Given the description of an element on the screen output the (x, y) to click on. 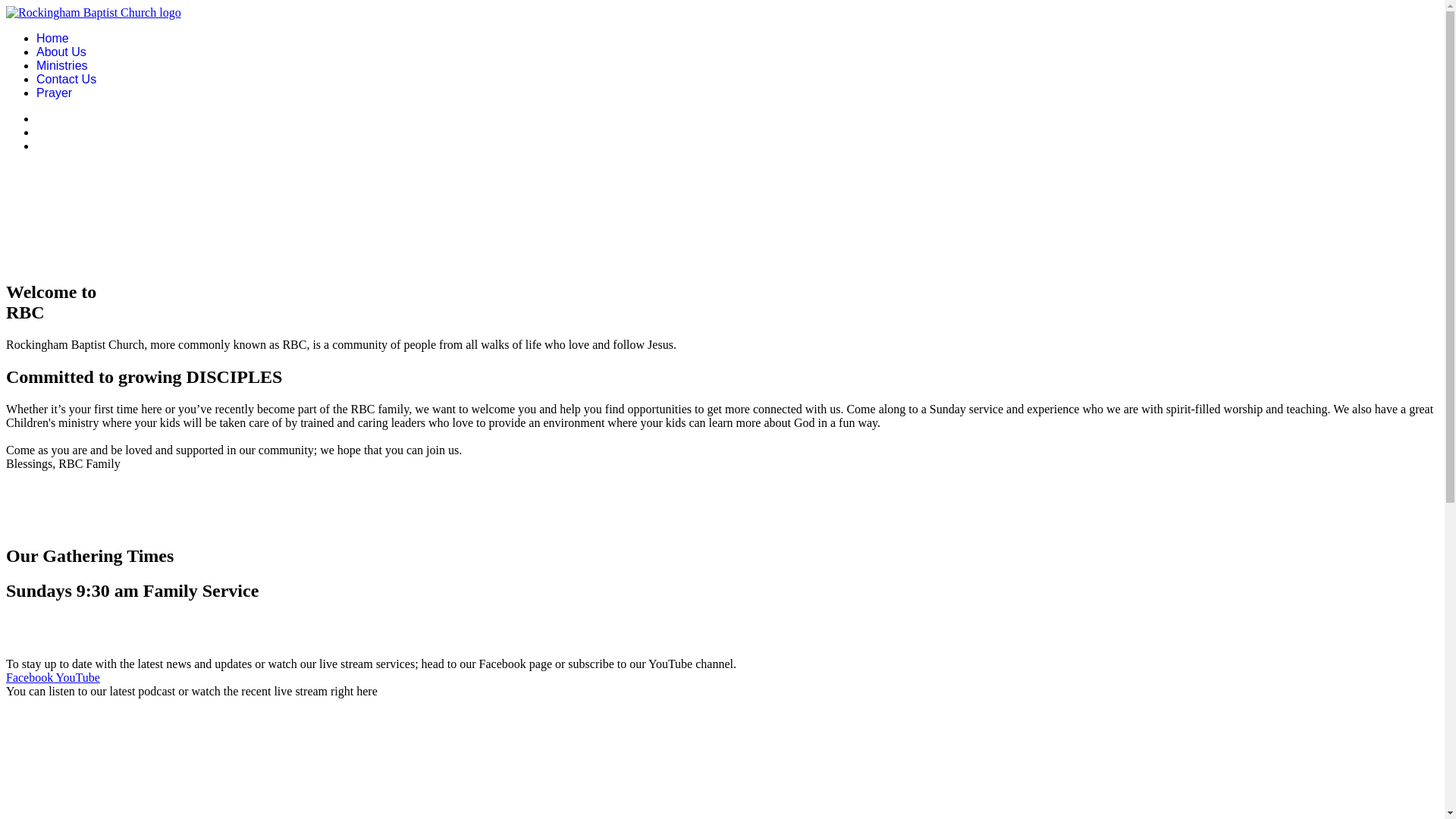
YouTube Element type: text (76, 677)
Ministries Element type: text (61, 65)
Home Element type: text (52, 37)
About Us Element type: text (61, 51)
Contact Us Element type: text (66, 78)
Facebook Element type: text (29, 677)
Prayer Element type: text (54, 92)
